Given the description of an element on the screen output the (x, y) to click on. 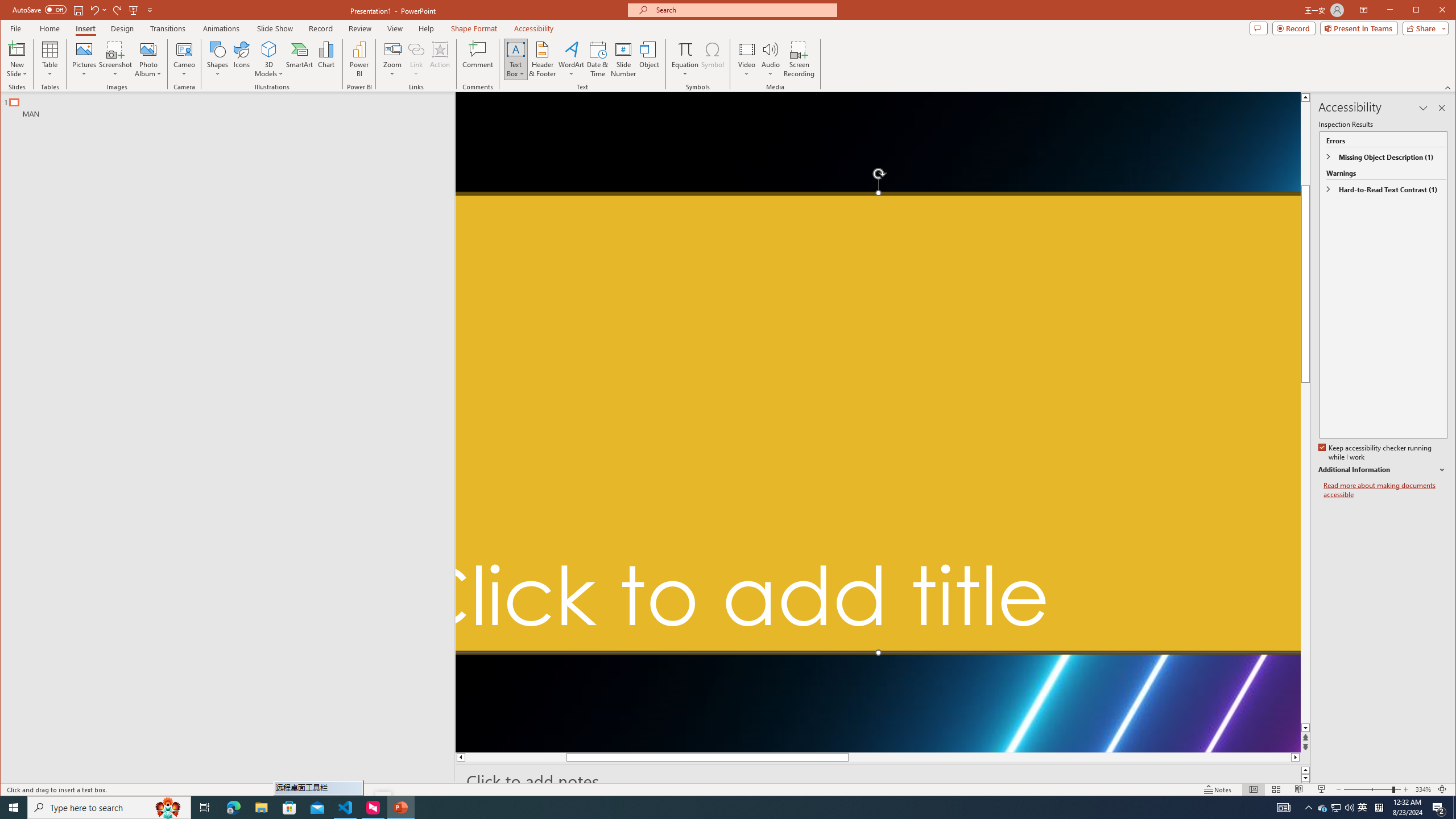
Power BI (359, 59)
